Given the description of an element on the screen output the (x, y) to click on. 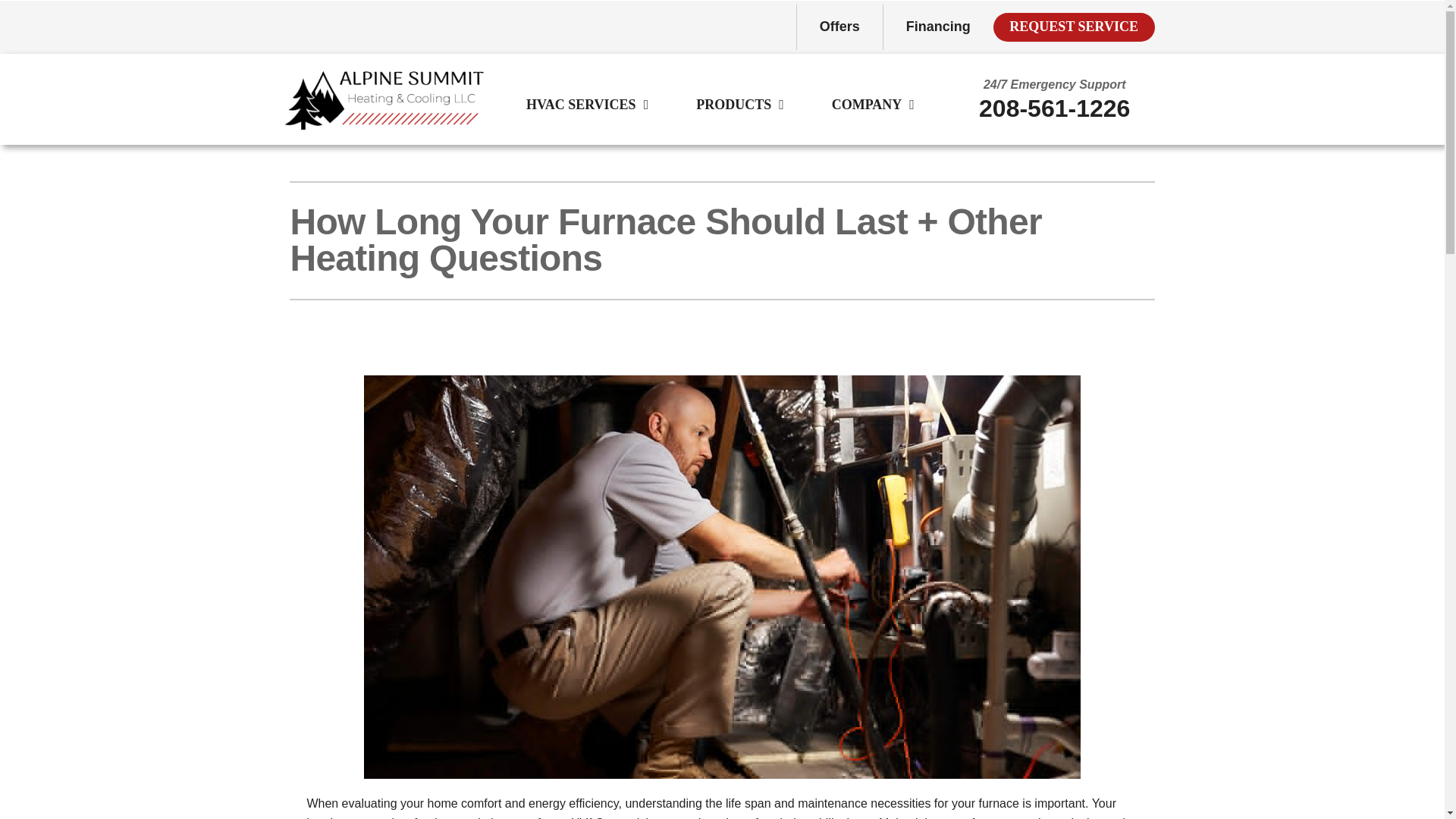
HVAC SERVICES (580, 104)
REQUEST SERVICE (1073, 27)
Financing (937, 26)
Offers (839, 26)
PRODUCTS (733, 104)
COMPANY (867, 104)
